Given the description of an element on the screen output the (x, y) to click on. 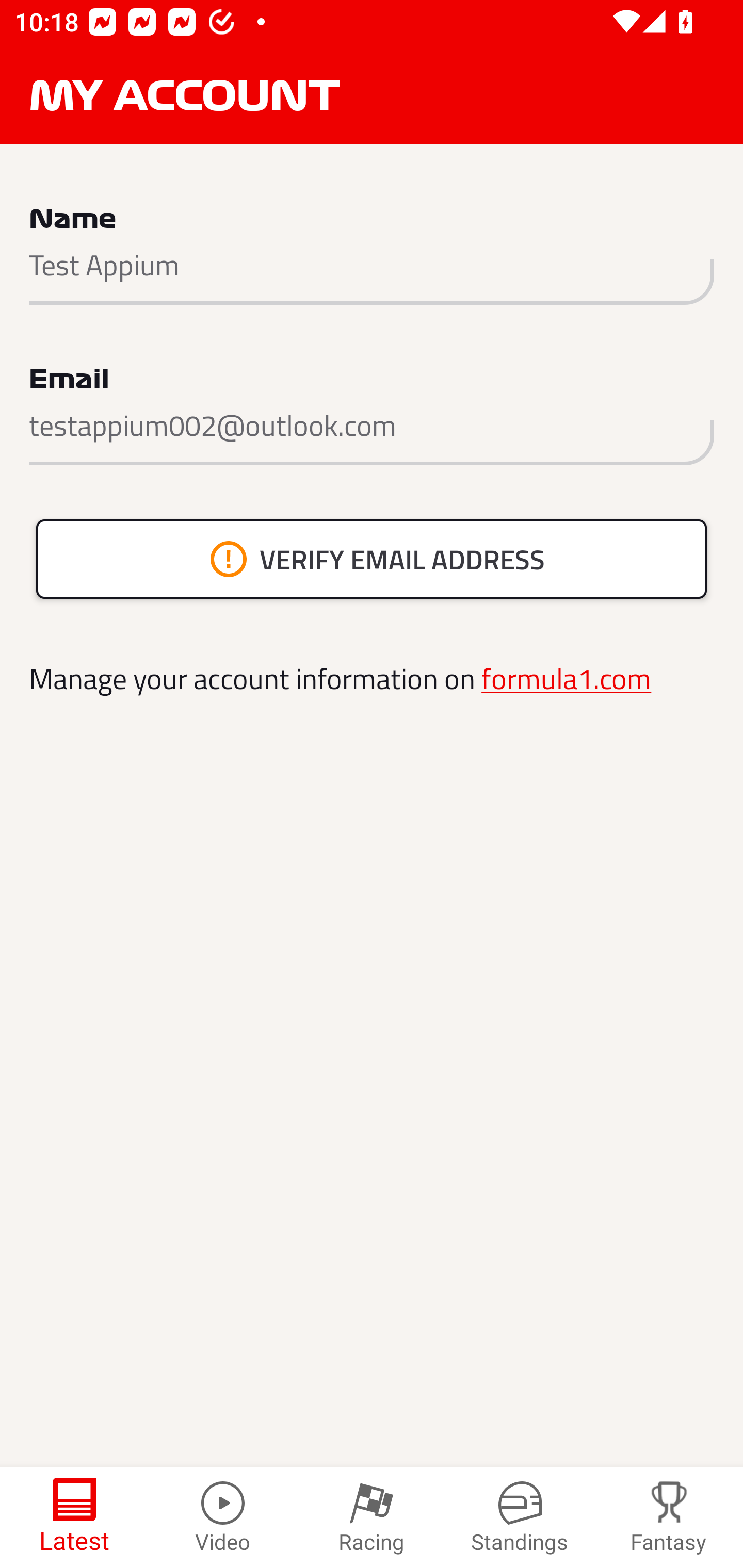
VERIFY EMAIL ADDRESS (371, 558)
Video (222, 1517)
Racing (371, 1517)
Standings (519, 1517)
Fantasy (668, 1517)
